Given the description of an element on the screen output the (x, y) to click on. 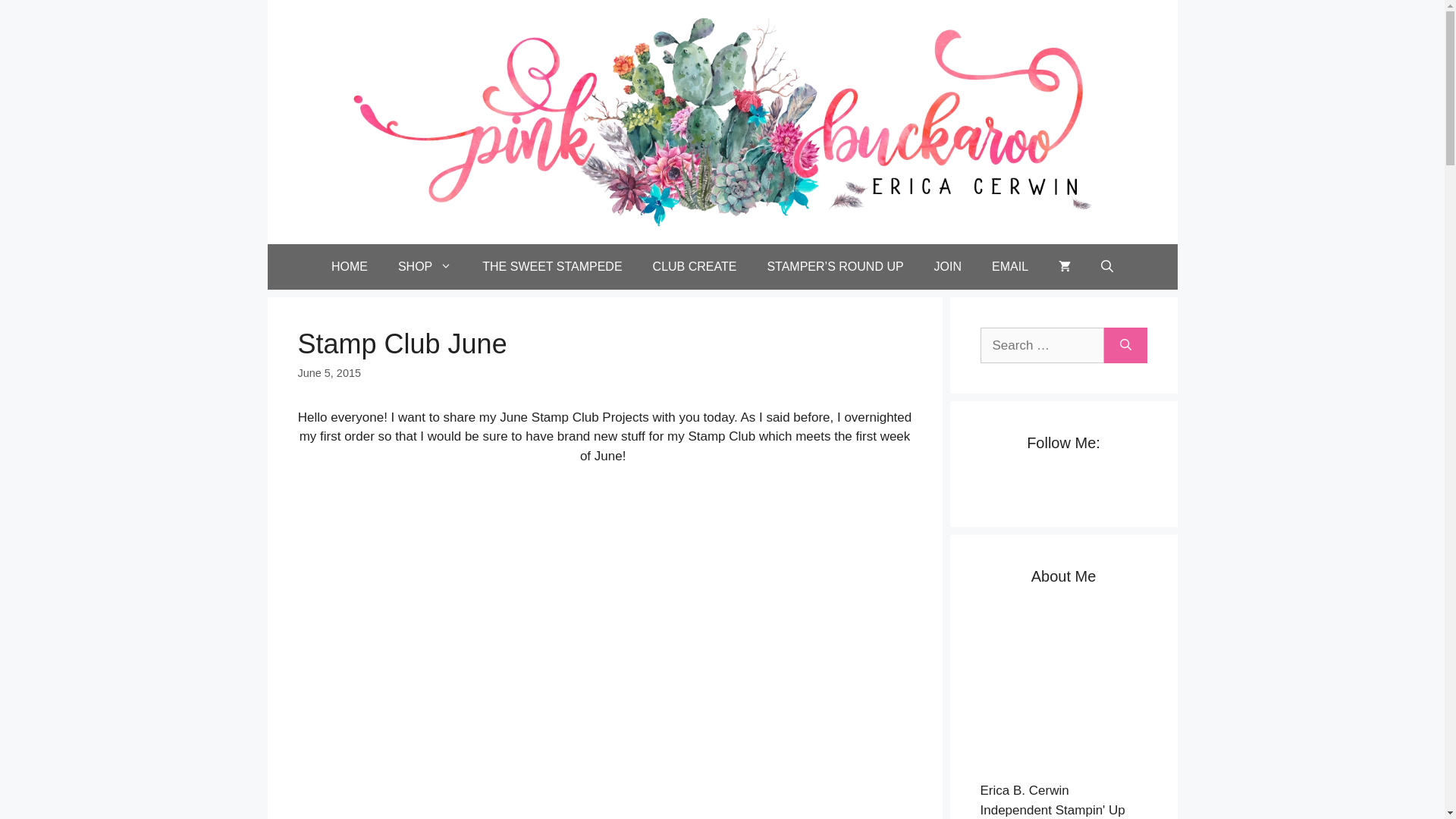
View your shopping cart (1064, 266)
HOME (348, 266)
SHOP (424, 266)
JOIN (947, 266)
Search for: (1041, 345)
CLUB CREATE (694, 266)
THE SWEET STAMPEDE (552, 266)
EMAIL (1009, 266)
